Given the description of an element on the screen output the (x, y) to click on. 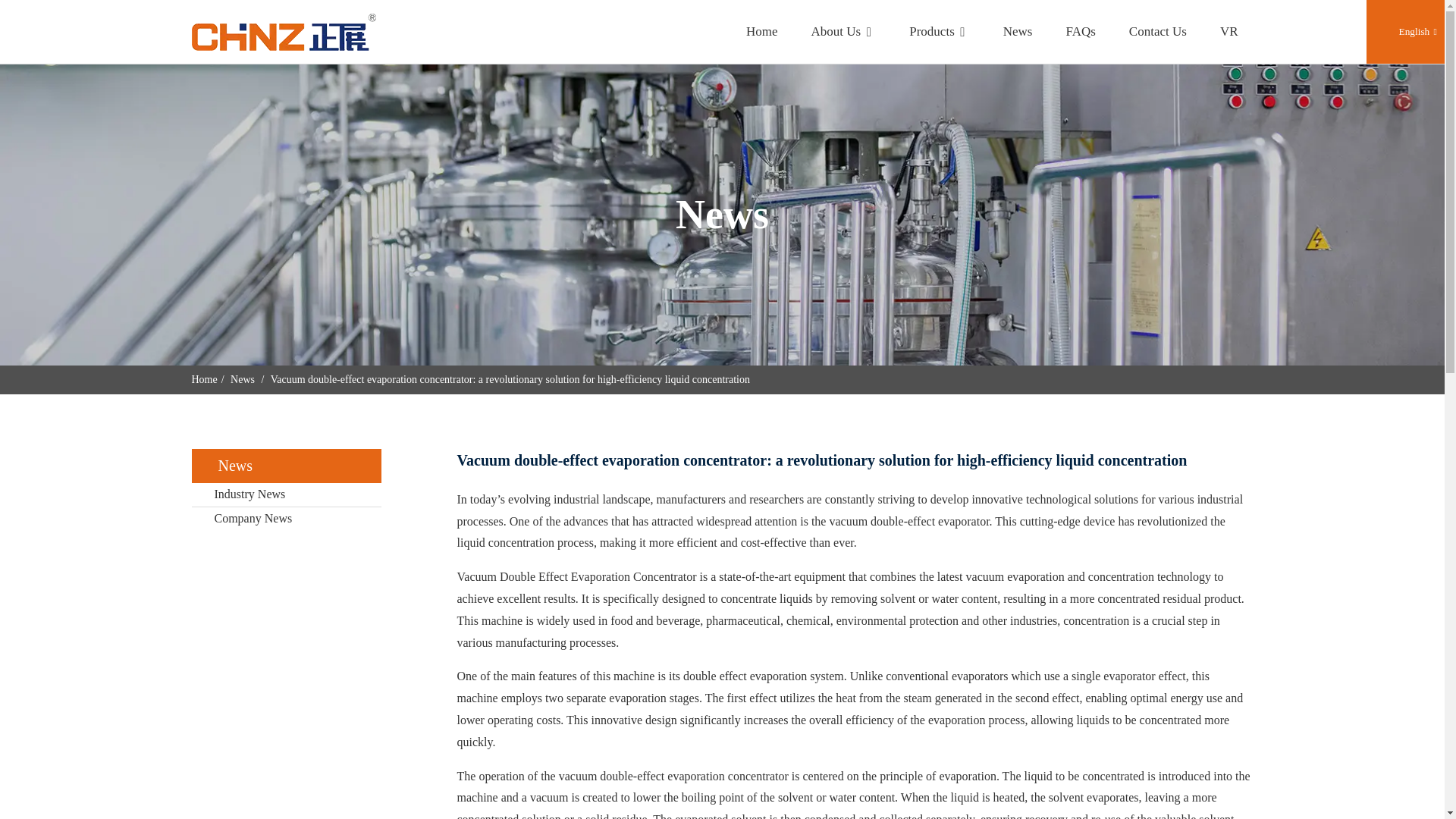
Home (203, 378)
News (242, 378)
Contact Us (1157, 31)
About Us (843, 31)
Company News (285, 517)
Industry News (285, 494)
English (1405, 30)
Products (938, 31)
